Given the description of an element on the screen output the (x, y) to click on. 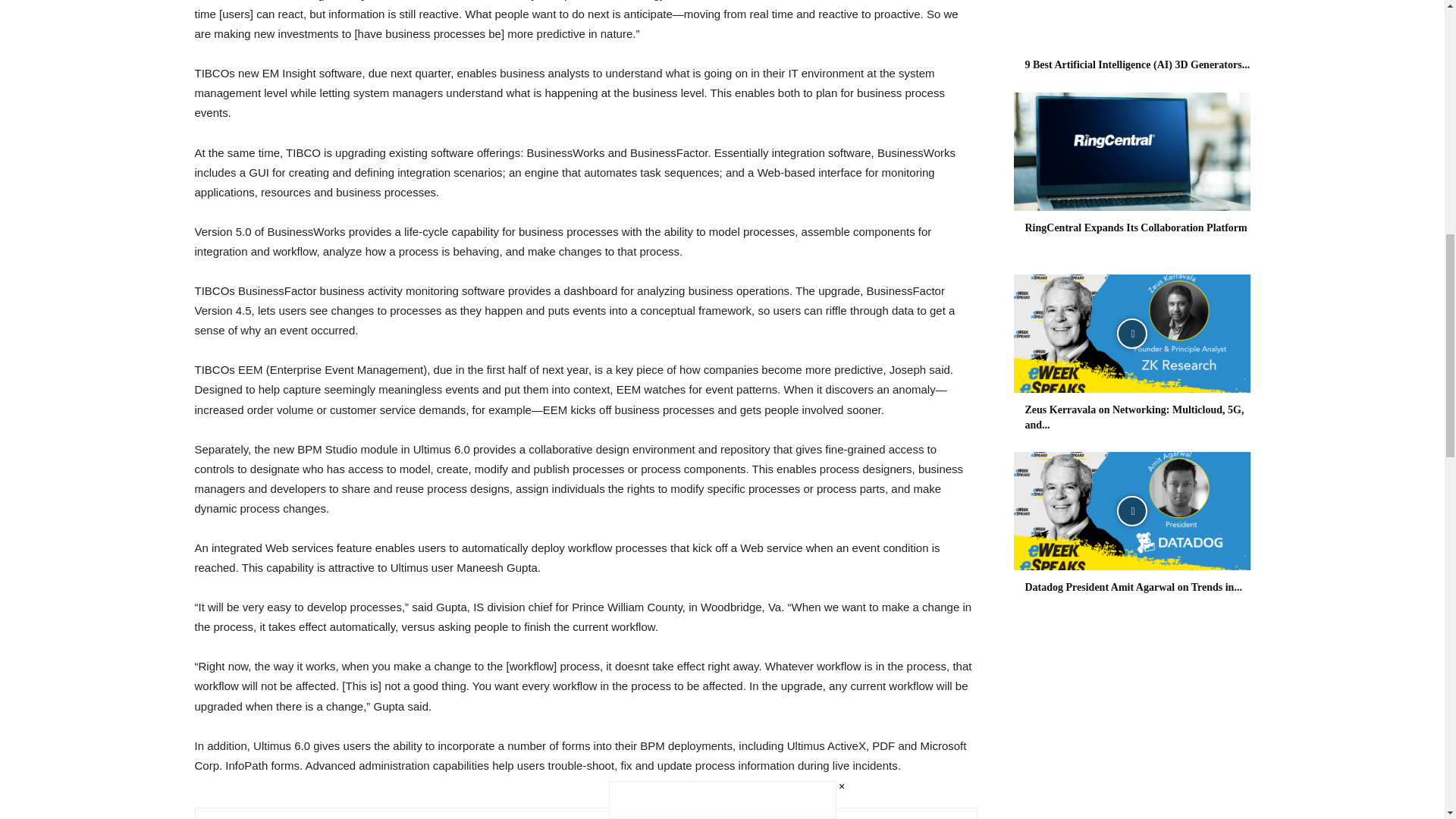
Zeus Kerravala on Networking: Multicloud, 5G, and Automation (1134, 417)
Zeus Kerravala on Networking: Multicloud, 5G, and Automation (1131, 333)
RingCentral Expands Its Collaboration Platform (1131, 151)
RingCentral Expands Its Collaboration Platform (1136, 227)
